Given the description of an element on the screen output the (x, y) to click on. 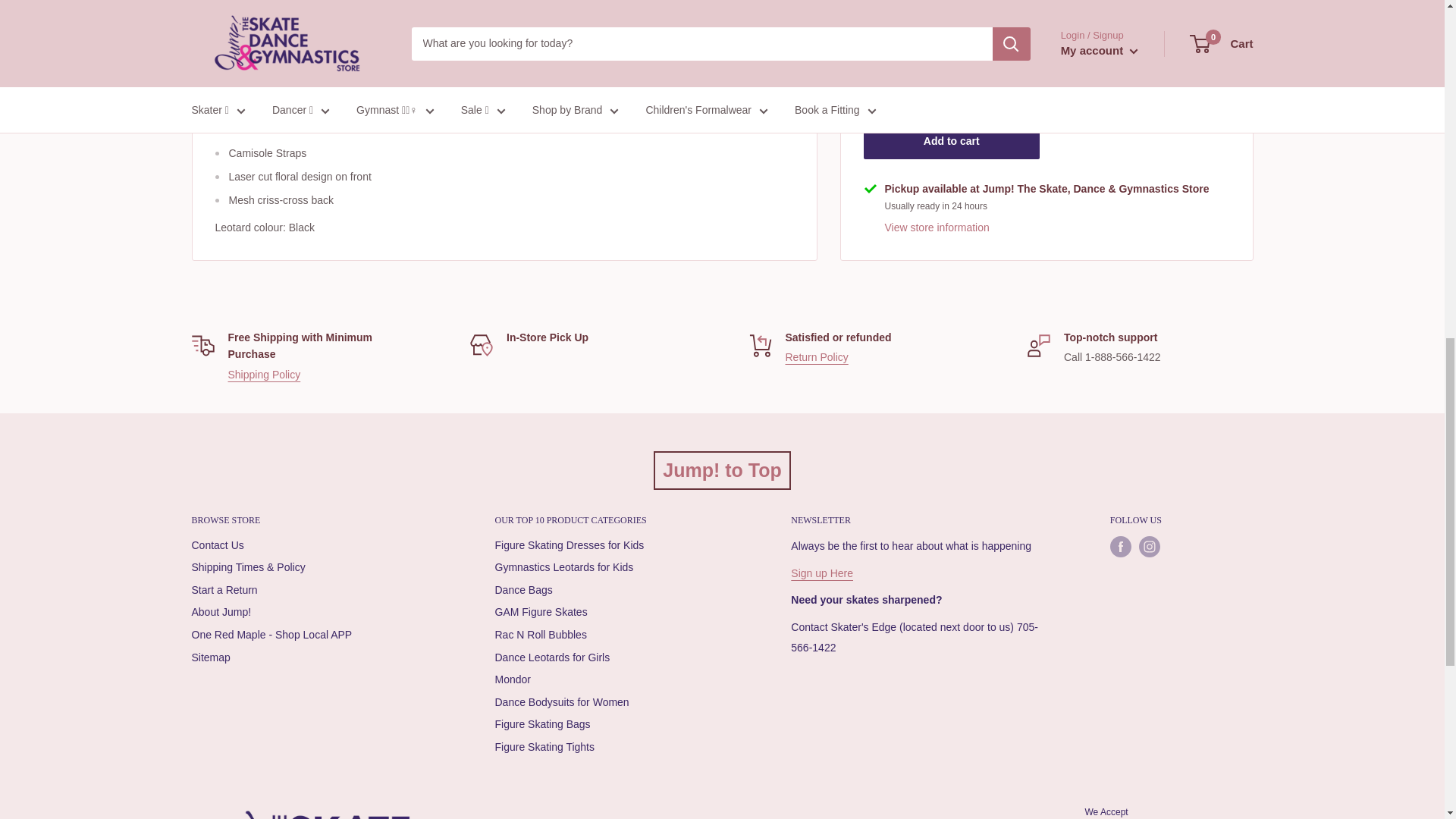
Shipping Policy (263, 374)
Return Policy (817, 357)
Newsletter (821, 573)
